Given the description of an element on the screen output the (x, y) to click on. 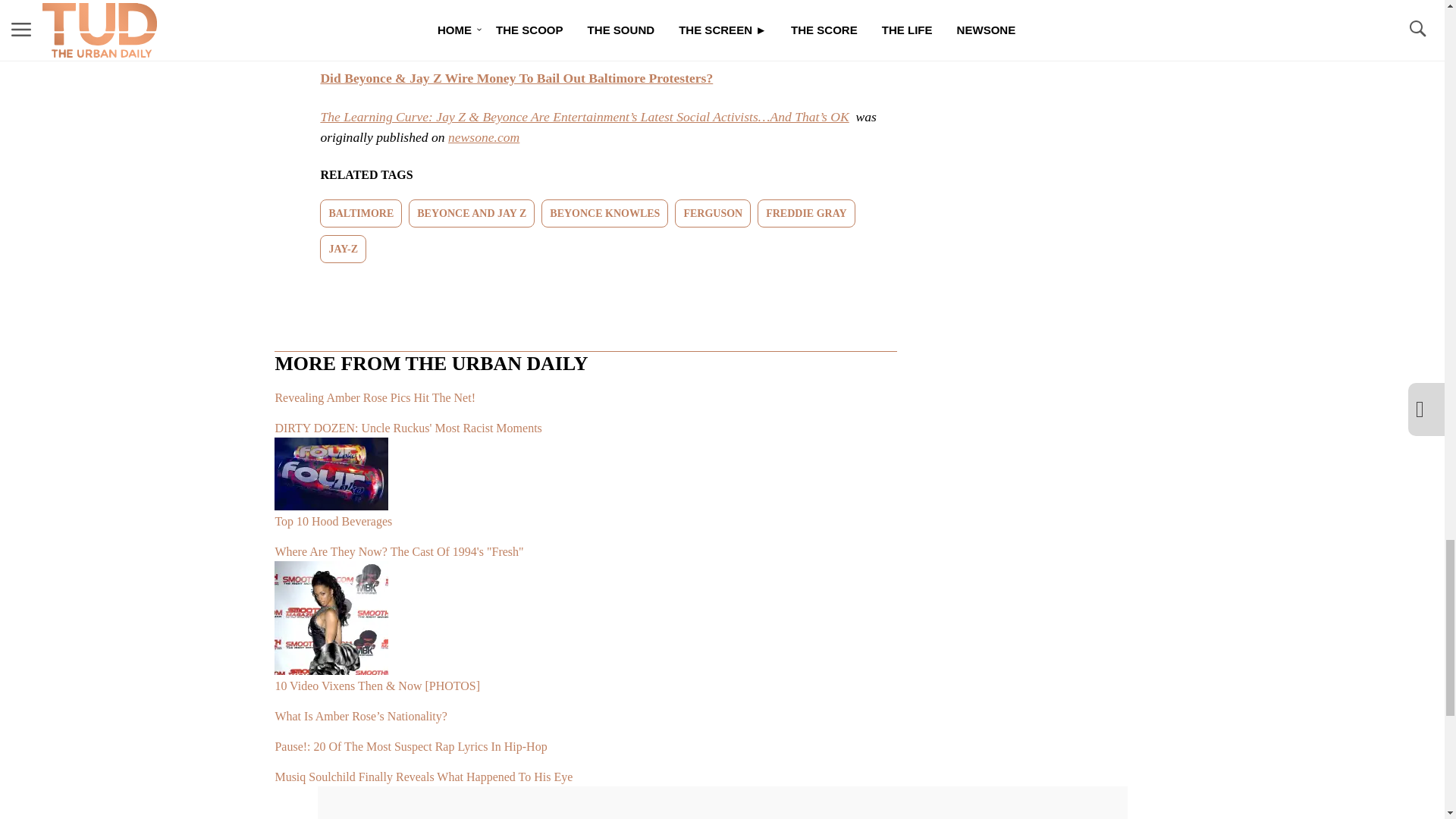
Revealing Amber Rose Pics Hit The Net! (585, 391)
BALTIMORE (360, 213)
FREDDIE GRAY (805, 213)
BEYONCE AND JAY Z (471, 213)
FERGUSON (713, 213)
Top 10 Hood Beverages (585, 483)
DIRTY DOZEN: Uncle Ruckus' Most Racist Moments (585, 422)
BEYONCE KNOWLES (604, 213)
JAY-Z (343, 248)
Where Are They Now? The Cast Of 1994's "Fresh" (585, 545)
newsone.com (483, 136)
